Given the description of an element on the screen output the (x, y) to click on. 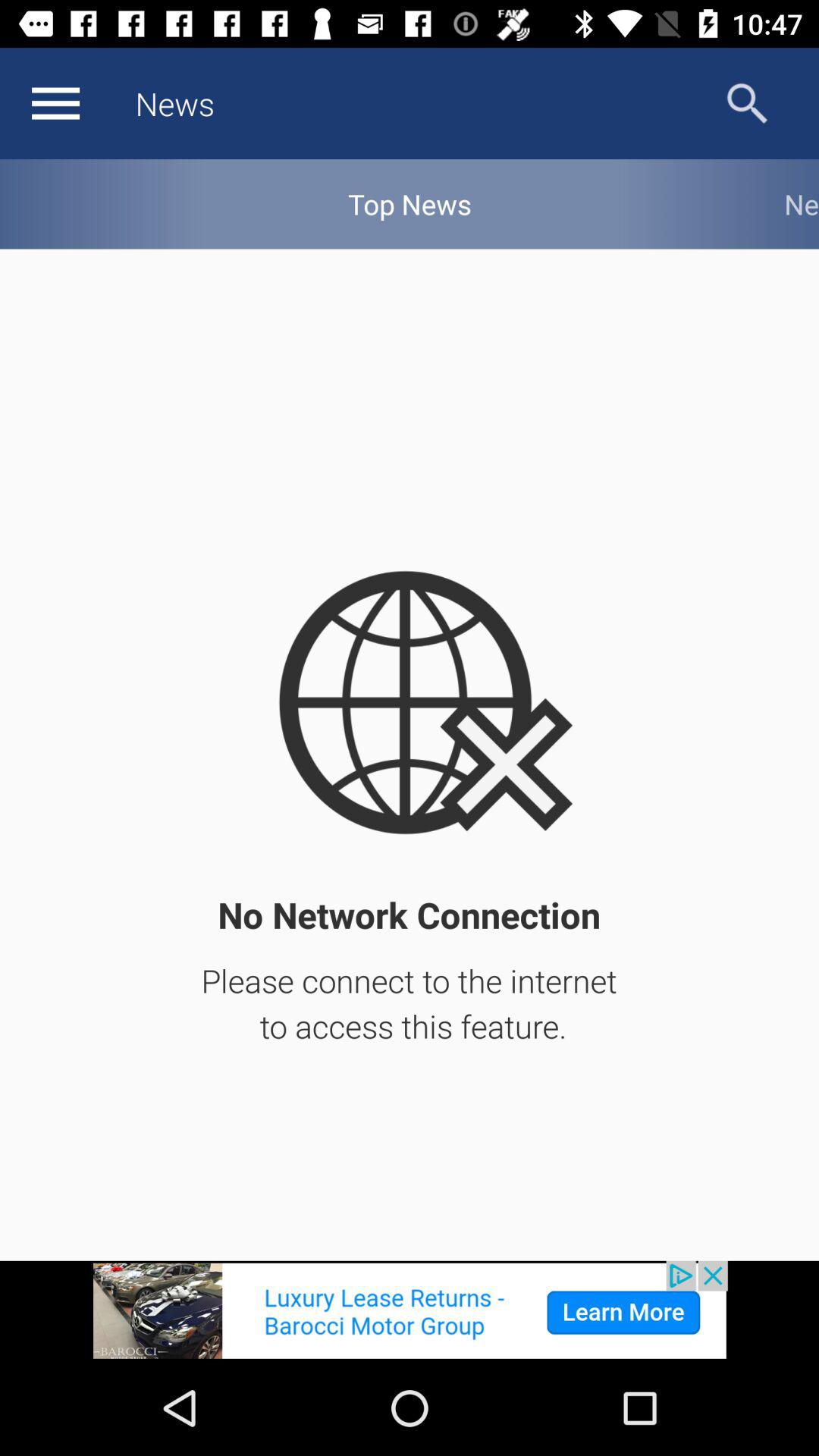
shows the advertisement tab (409, 1310)
